Given the description of an element on the screen output the (x, y) to click on. 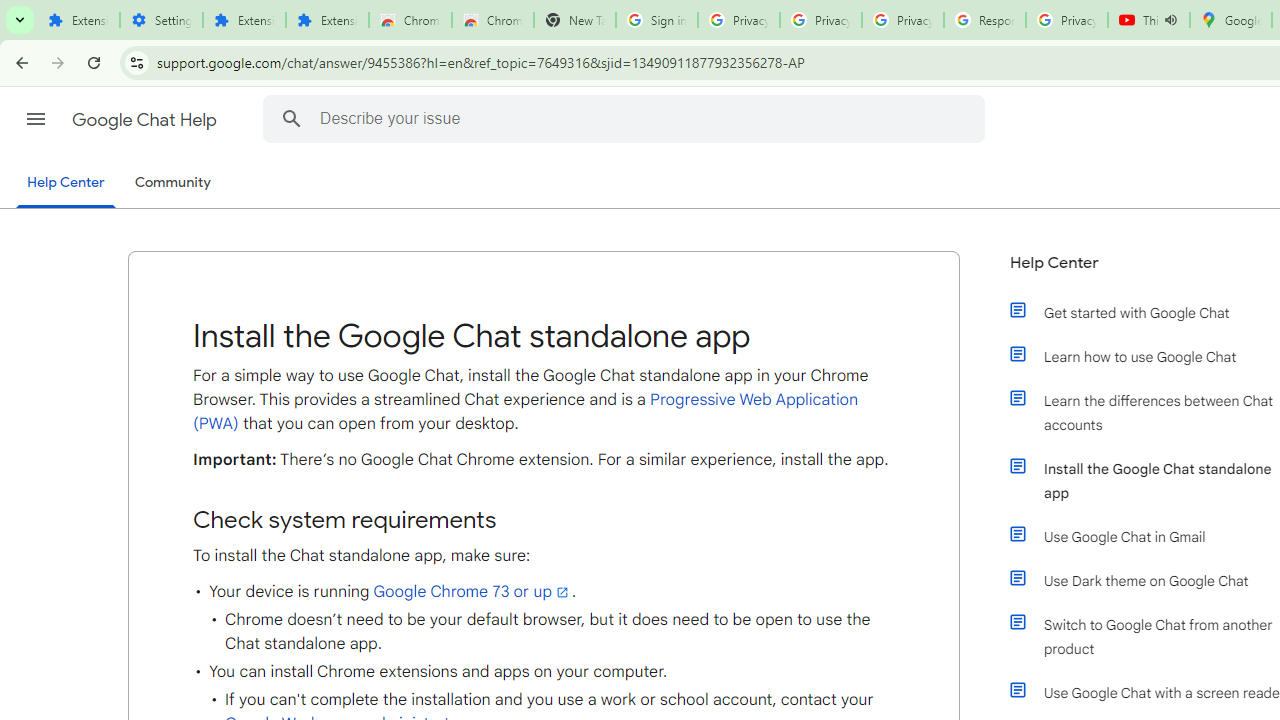
Describe your issue (626, 118)
Progressive Web Application (PWA) (525, 412)
Extensions (78, 20)
Search Help Center (291, 118)
Settings (161, 20)
Mute tab (1170, 20)
Help Center (65, 183)
Google Chrome 73 or up (472, 591)
